Given the description of an element on the screen output the (x, y) to click on. 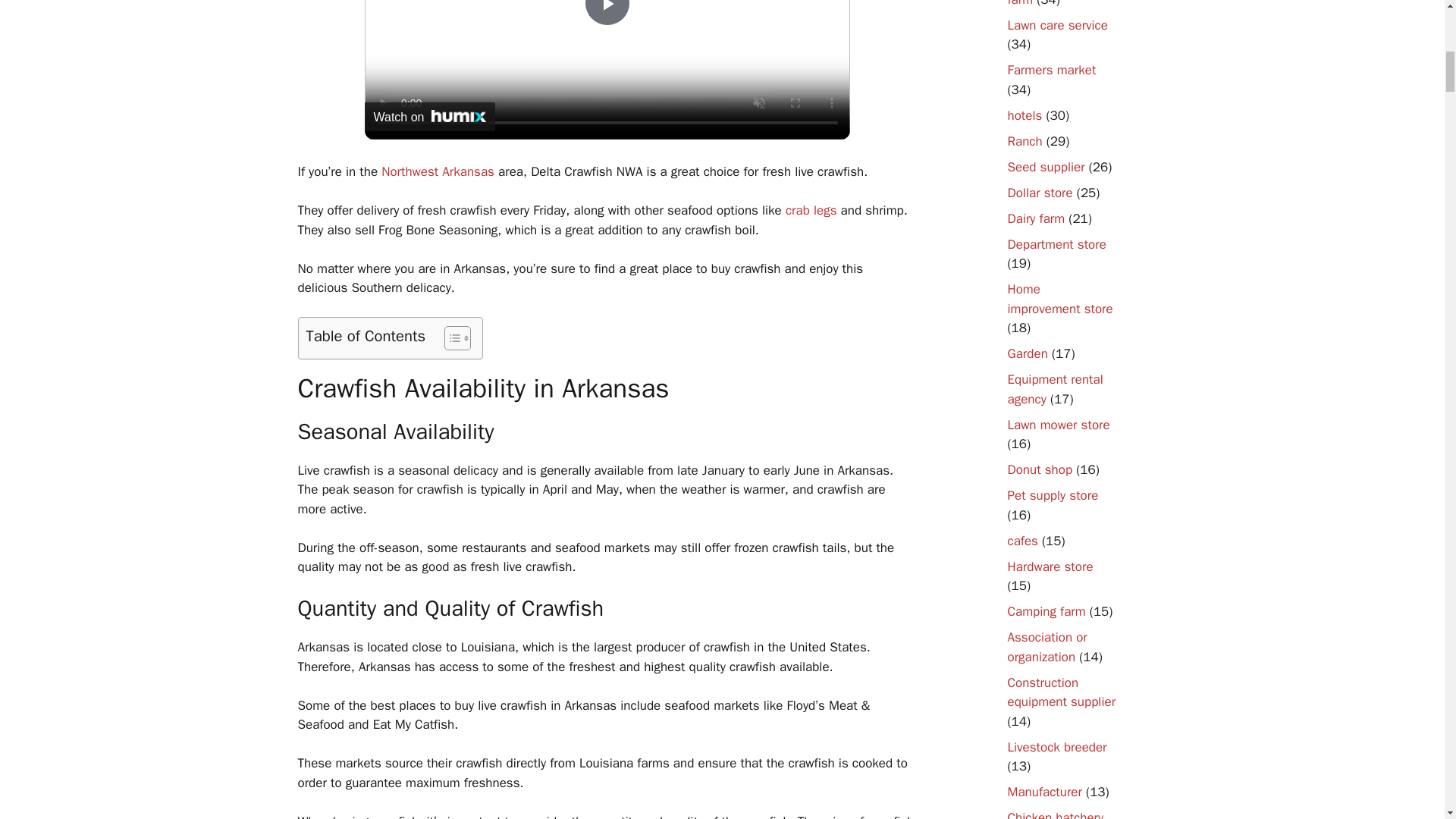
Northwest Arkansas (438, 171)
Watch on (429, 116)
Play Video (605, 12)
Play Video (605, 12)
crab legs (811, 210)
